Given the description of an element on the screen output the (x, y) to click on. 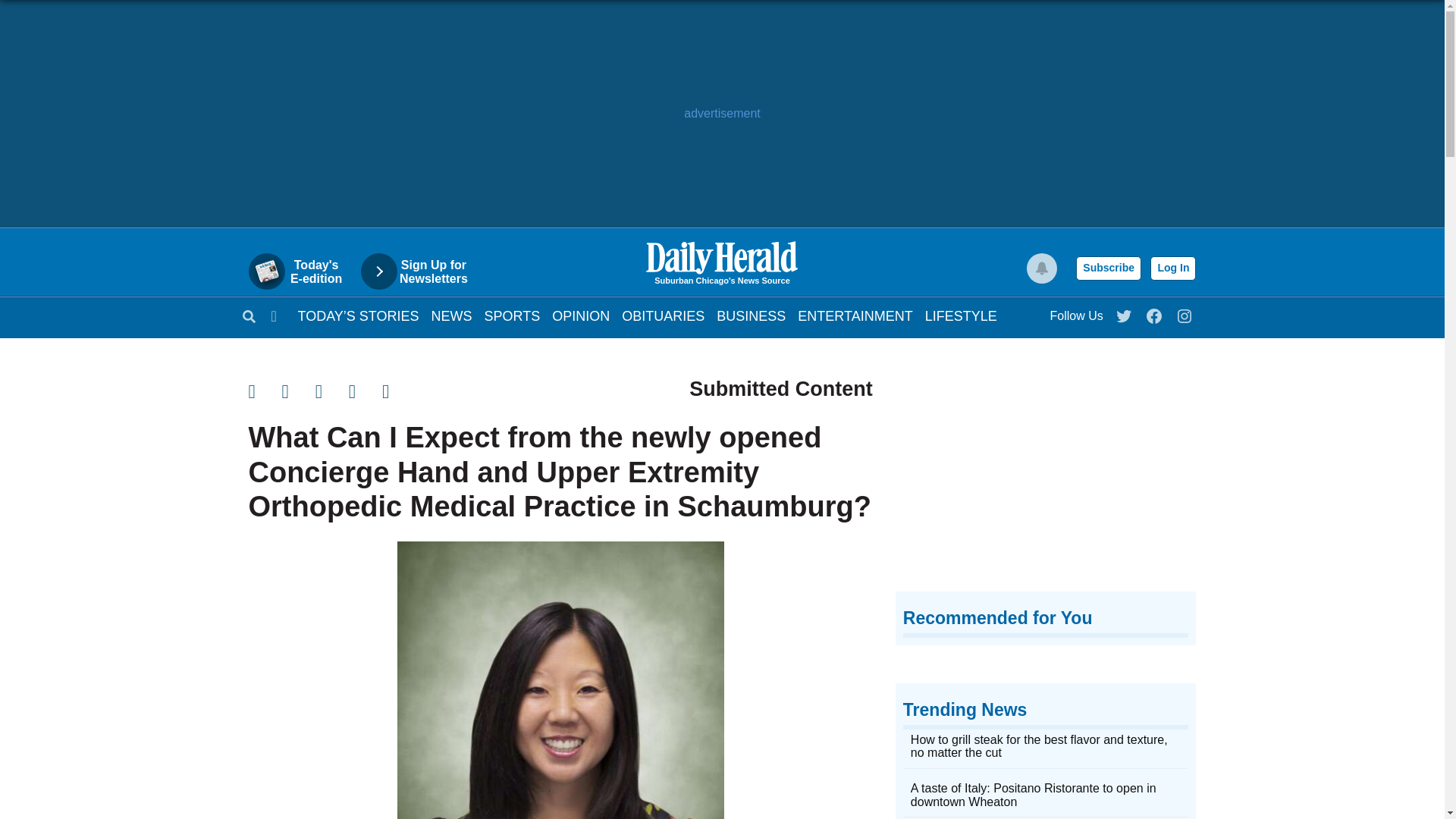
Twitter (1124, 312)
Sports (512, 315)
Today's Stories (358, 315)
Entertainment (854, 315)
Share via Email (332, 391)
Instagram (1184, 312)
News (450, 315)
Log In (1172, 268)
NEWS (450, 315)
ENTERTAINMENT (854, 315)
